Given the description of an element on the screen output the (x, y) to click on. 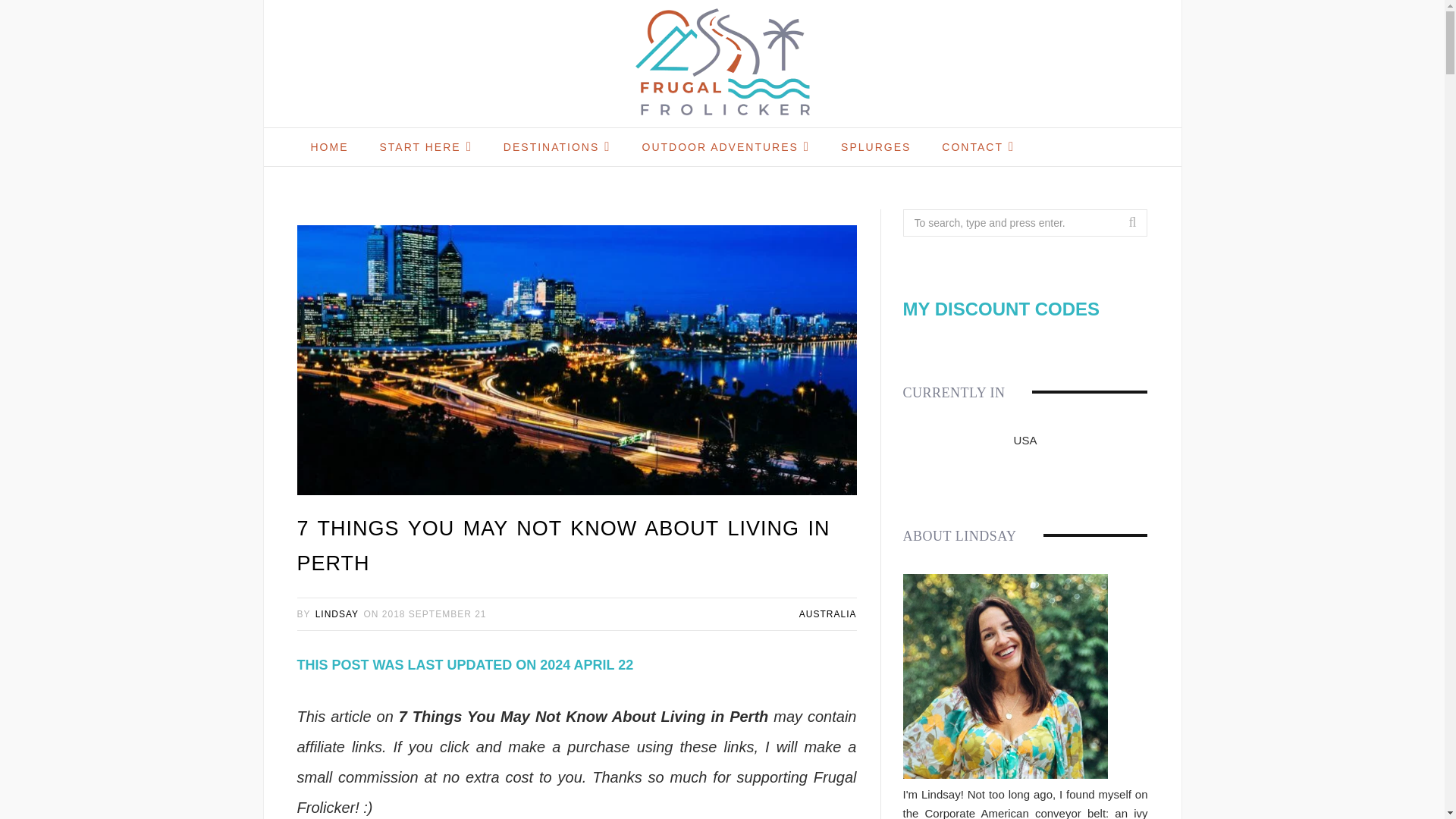
START HERE (424, 147)
DESTINATIONS (556, 147)
HOME (329, 147)
Frugal Frolicker (721, 63)
Posts by Lindsay (336, 614)
